Given the description of an element on the screen output the (x, y) to click on. 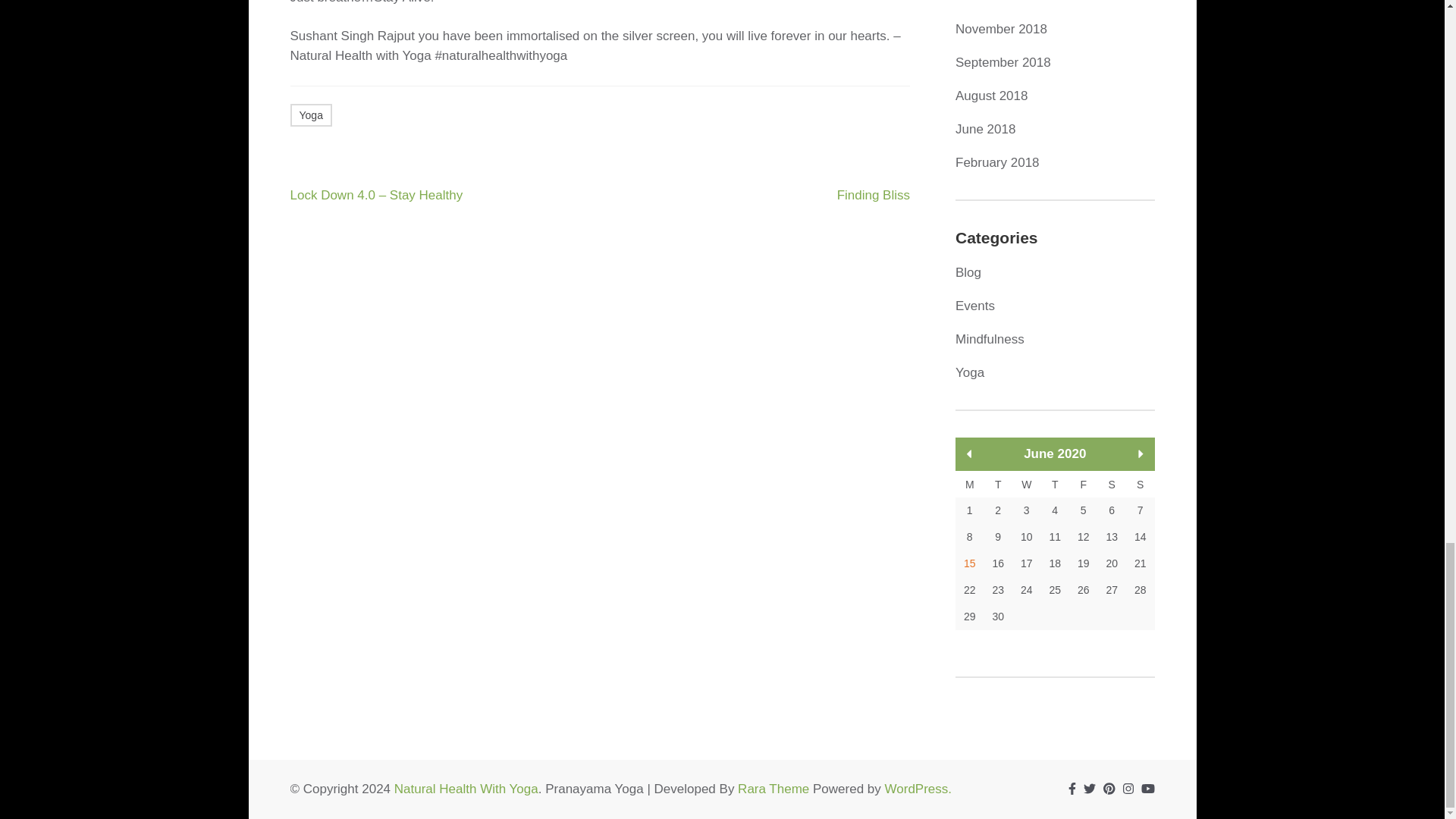
Tuesday (998, 483)
Finding Bliss (873, 194)
Pinterest (1109, 788)
Sunday (1139, 483)
Facebook (1071, 788)
Wednesday (1026, 483)
Friday (1082, 483)
Monday (969, 483)
Saturday (1111, 483)
Yoga (310, 115)
Thursday (1054, 483)
Twitter (1089, 788)
